Given the description of an element on the screen output the (x, y) to click on. 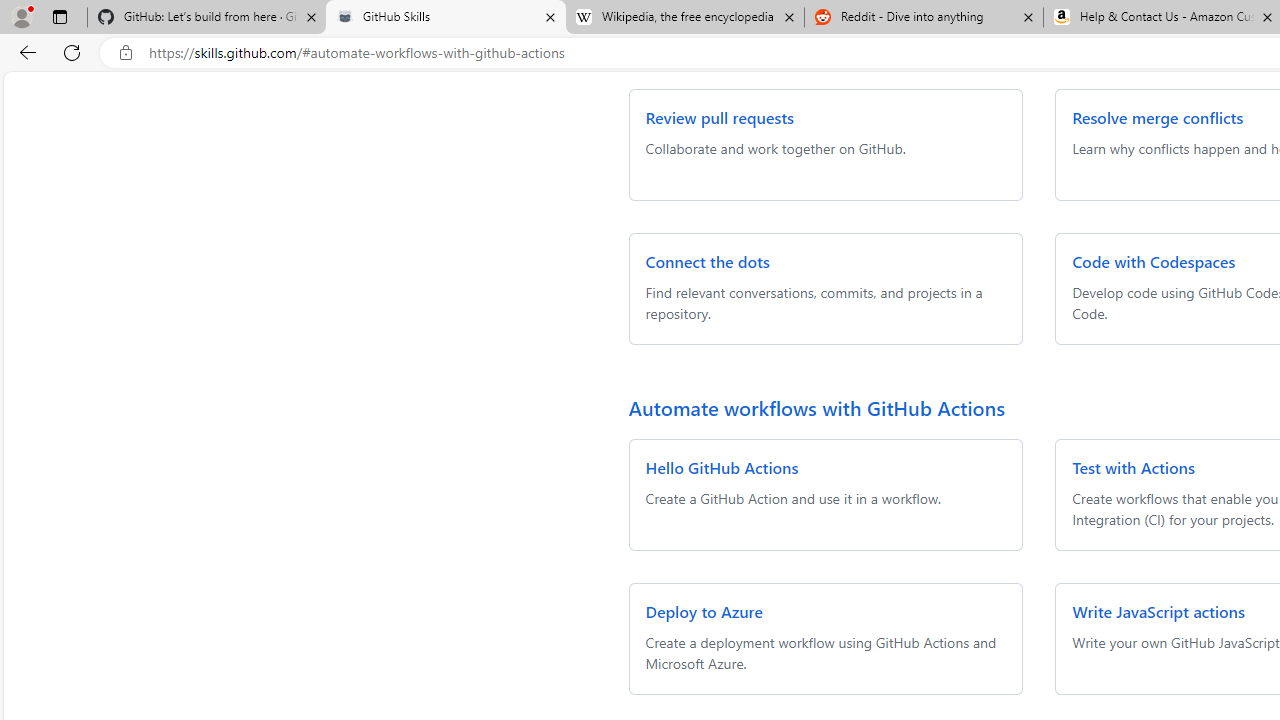
Test with Actions (1133, 467)
Connect the dots (707, 261)
GitHub Skills (445, 17)
Resolve merge conflicts (1158, 117)
Review pull requests (719, 117)
Code with Codespaces (1154, 261)
Deploy to Azure (703, 611)
Automate workflows with GitHub Actions (816, 407)
Write JavaScript actions (1158, 611)
